Given the description of an element on the screen output the (x, y) to click on. 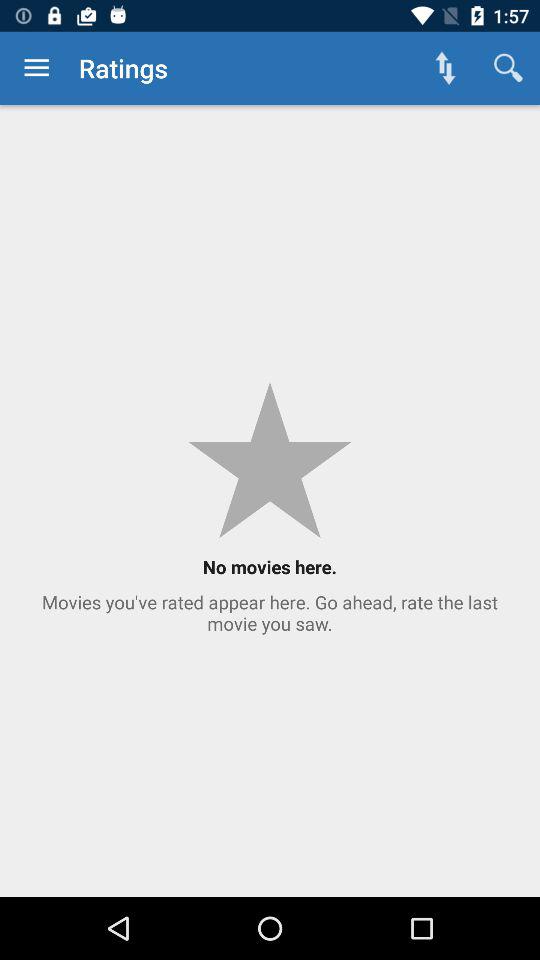
turn off the item above movies you ve item (36, 68)
